Given the description of an element on the screen output the (x, y) to click on. 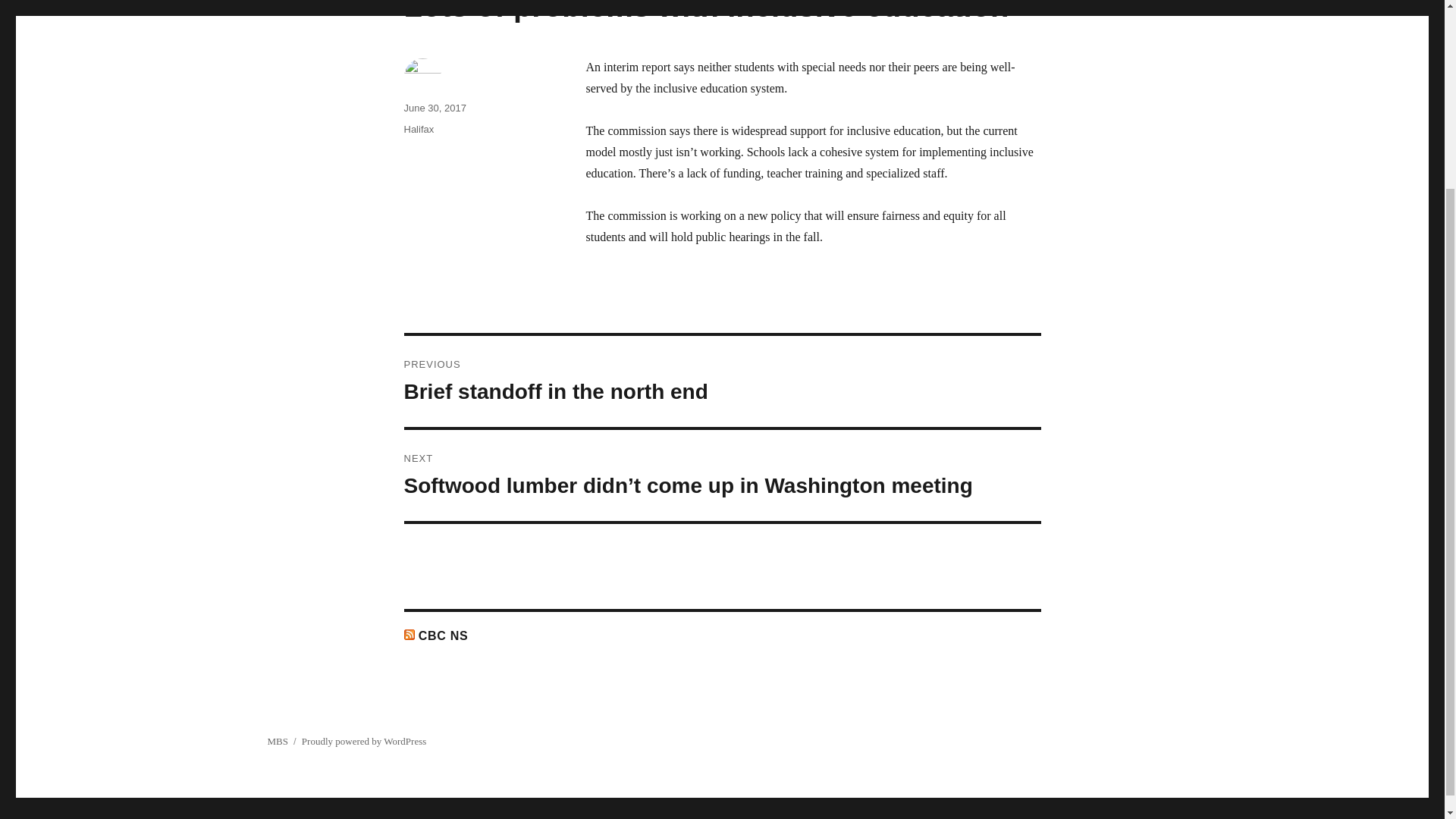
Halifax (722, 380)
June 30, 2017 (418, 129)
CBC NS (434, 107)
MBS (443, 635)
Proudly powered by WordPress (276, 740)
